Given the description of an element on the screen output the (x, y) to click on. 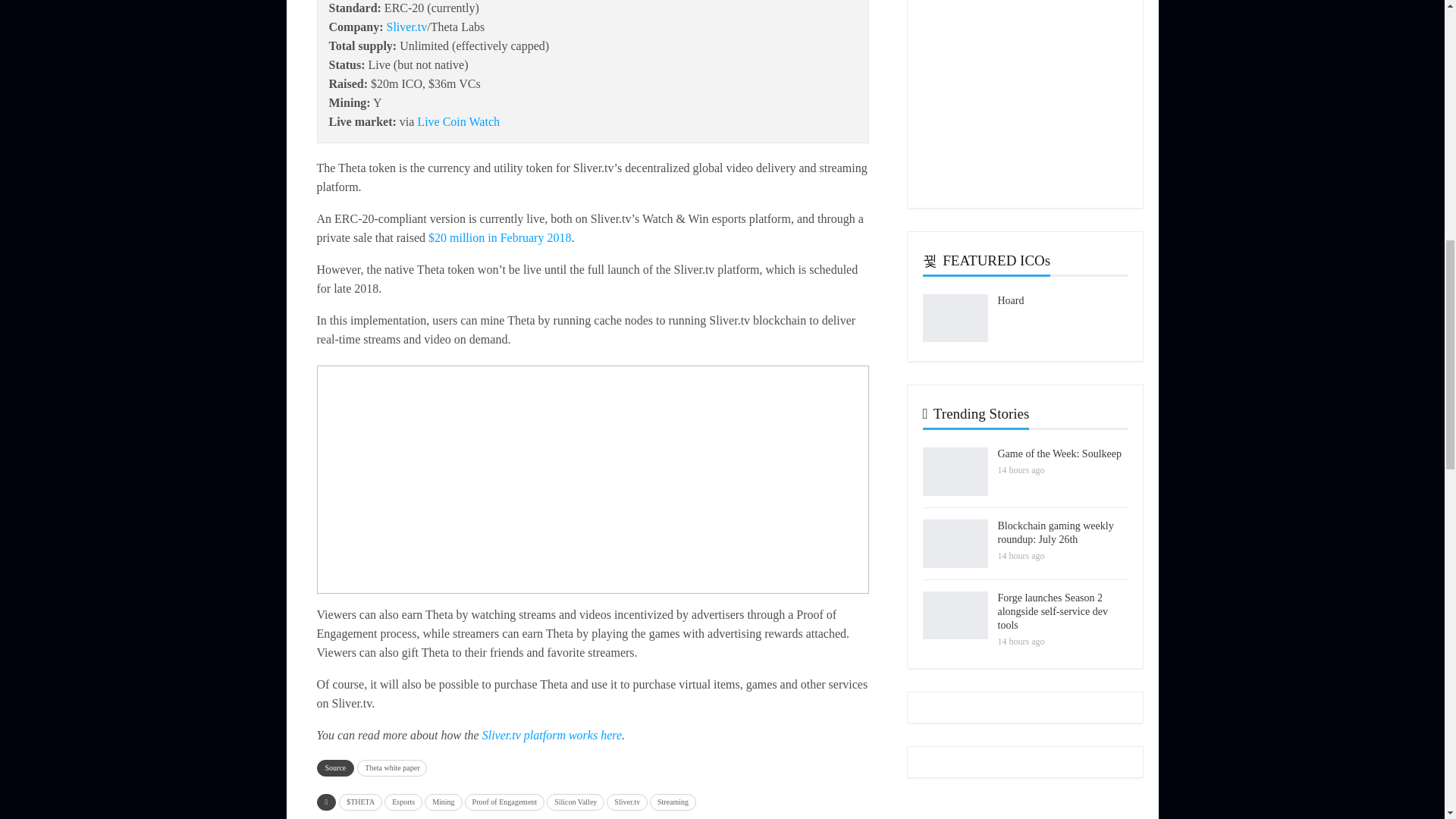
Mining (443, 801)
Sliver.tv (627, 801)
Live Coin Watch (457, 121)
Esports (403, 801)
Silicon Valley (575, 801)
Proof of Engagement (504, 801)
Game of the Week: Soulkeep (954, 471)
Sliver.tv (407, 26)
Streaming (672, 801)
Sliver.tv platform works here (551, 735)
Theta white paper (391, 768)
Hoard (954, 318)
